Given the description of an element on the screen output the (x, y) to click on. 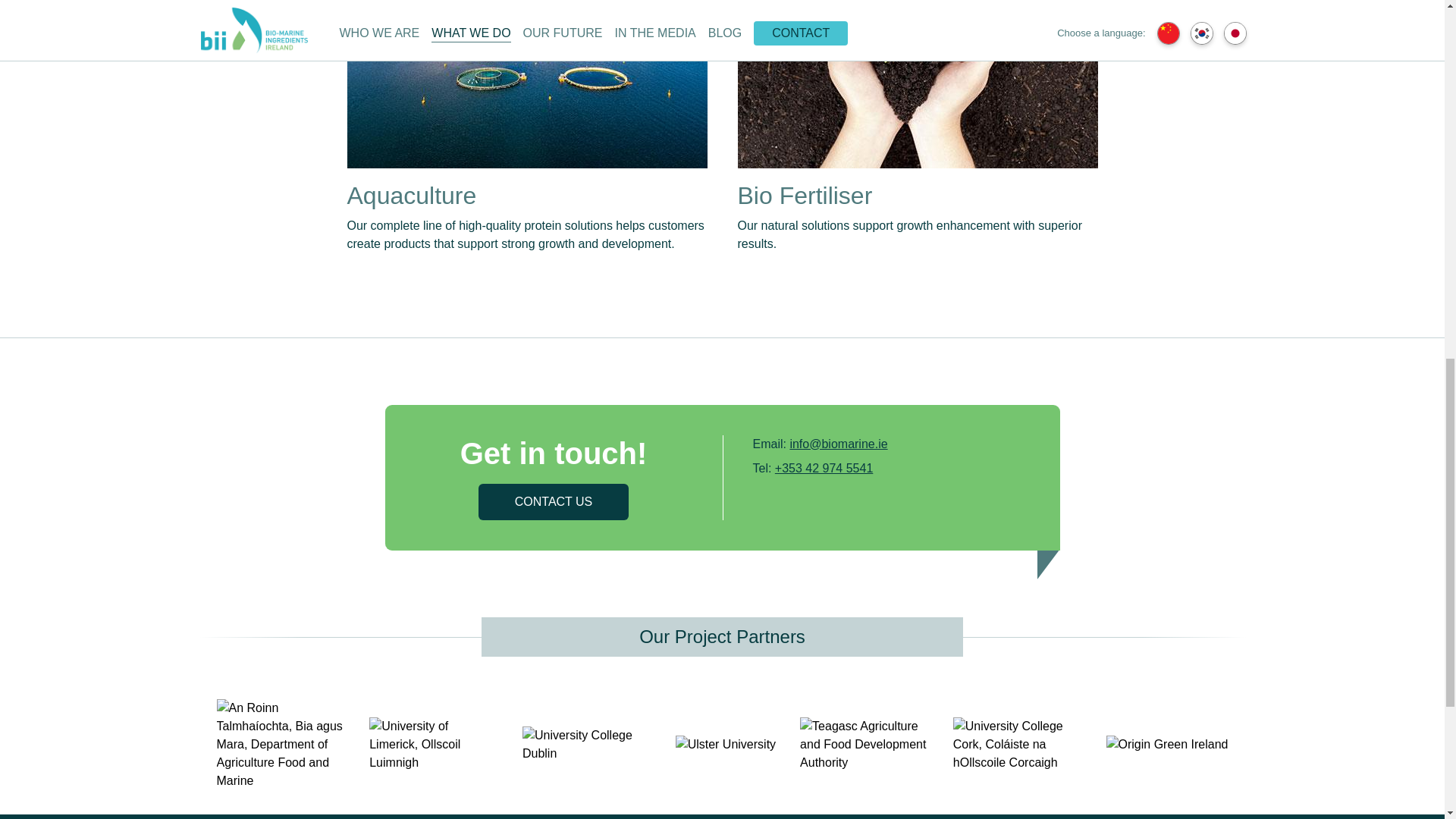
CONTACT US (553, 502)
